Given the description of an element on the screen output the (x, y) to click on. 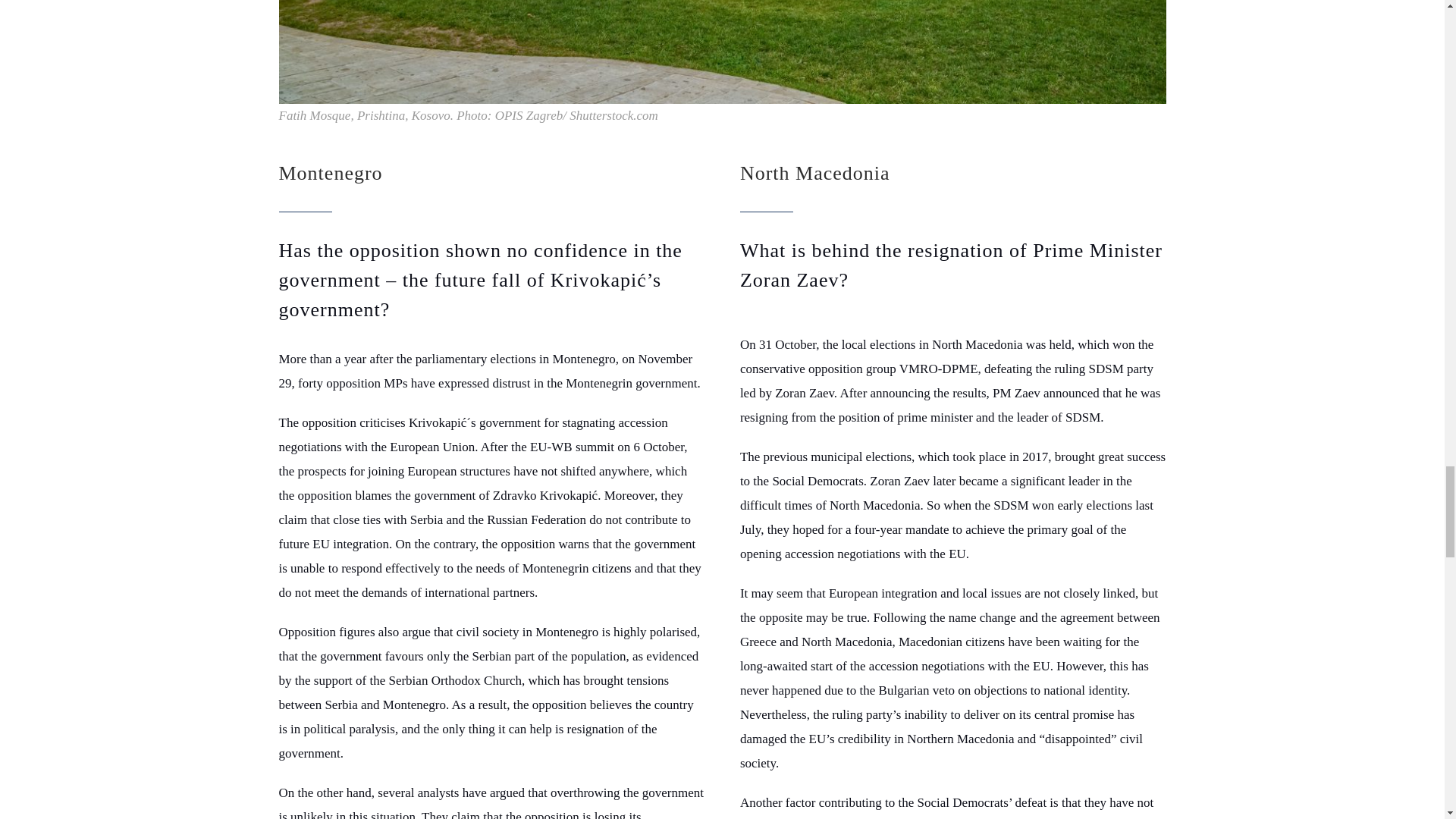
Pristina,,Kosovo,-,July,29,,2014:,Fatih,Mosque,Is,The (722, 52)
